Given the description of an element on the screen output the (x, y) to click on. 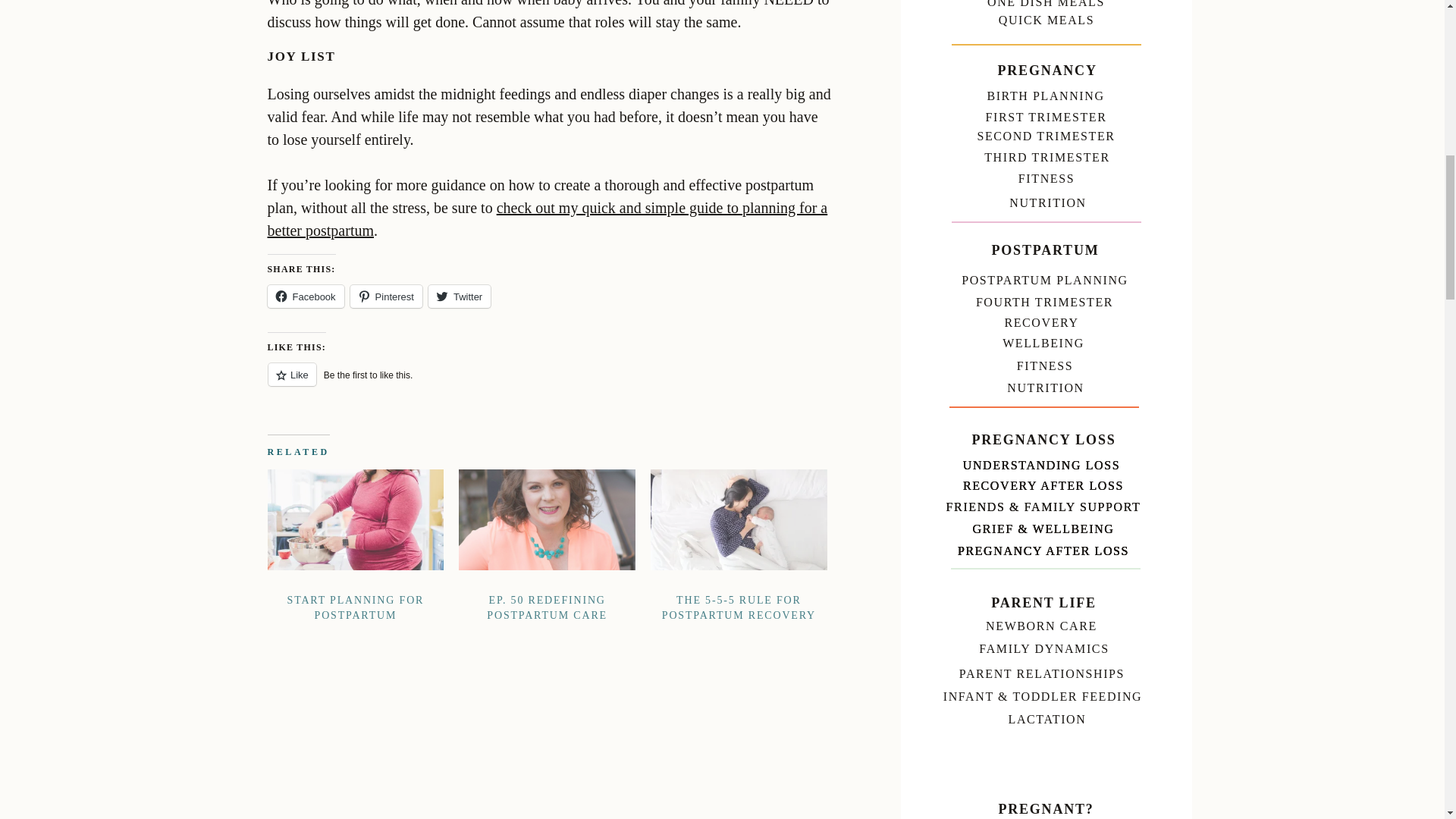
The 5-5-5 Rule for Postpartum Recovery (738, 519)
Start Planning for Postpartum (355, 519)
QUICK MEALS (1045, 16)
Start Planning for Postpartum (355, 580)
BIRTH PLANNING (1045, 92)
Click to share on Twitter (459, 296)
The 5-5-5 Rule for Postpartum Recovery (738, 580)
Ep. 50 Redefining Postpartum Care (546, 580)
Click to share on Facebook (304, 296)
Ep. 50 Redefining Postpartum Care (546, 519)
ONE DISH MEALS (1045, 2)
Like or Reblog (549, 383)
Click to share on Pinterest (386, 296)
